Given the description of an element on the screen output the (x, y) to click on. 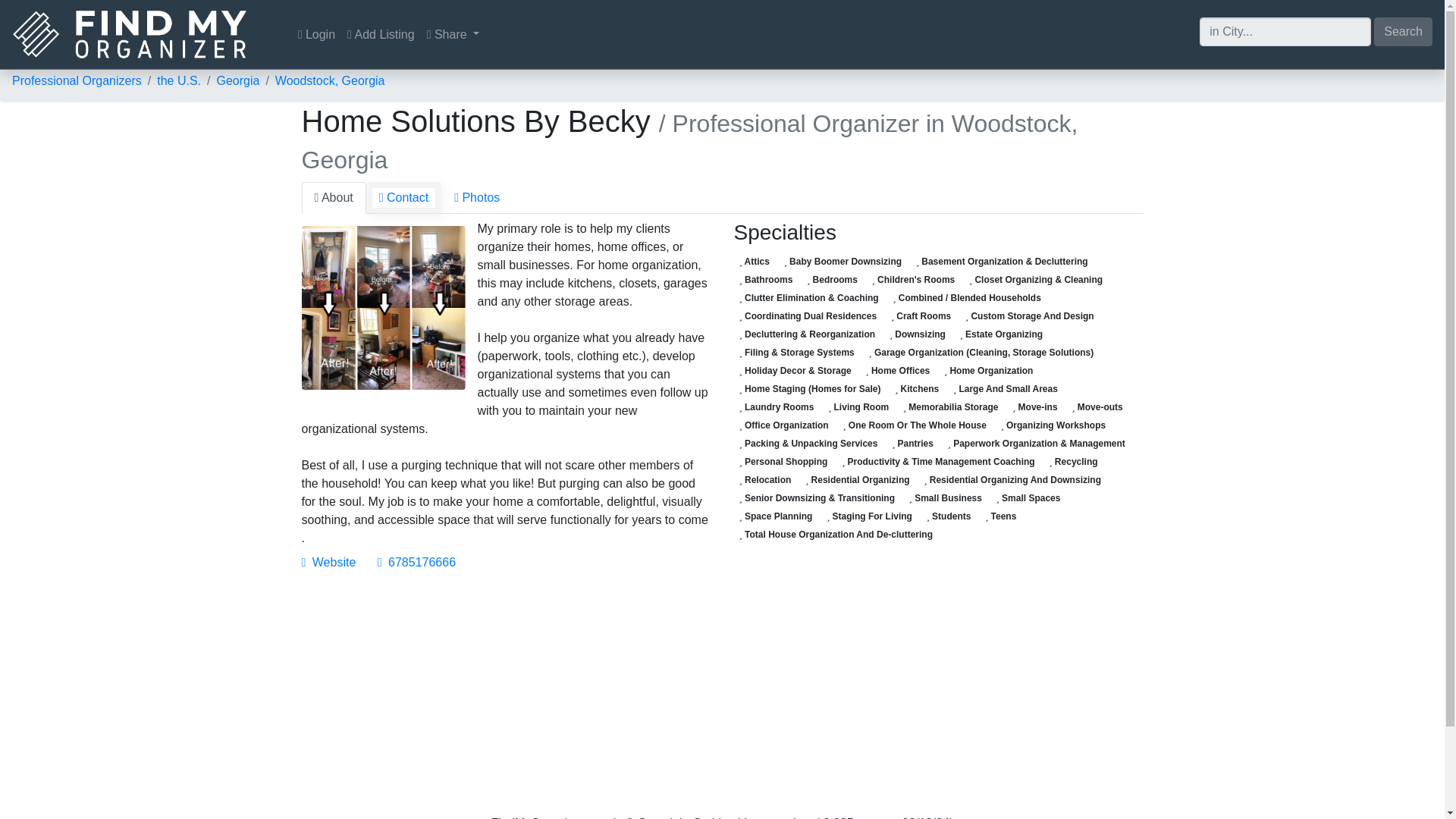
Website (328, 562)
the U.S. (178, 80)
6785176666 (416, 562)
Login (316, 34)
Professional Organizers (76, 80)
Georgia (237, 80)
Add Listing (380, 34)
Search (1403, 30)
About (333, 197)
Woodstock, Georgia (330, 80)
